Given the description of an element on the screen output the (x, y) to click on. 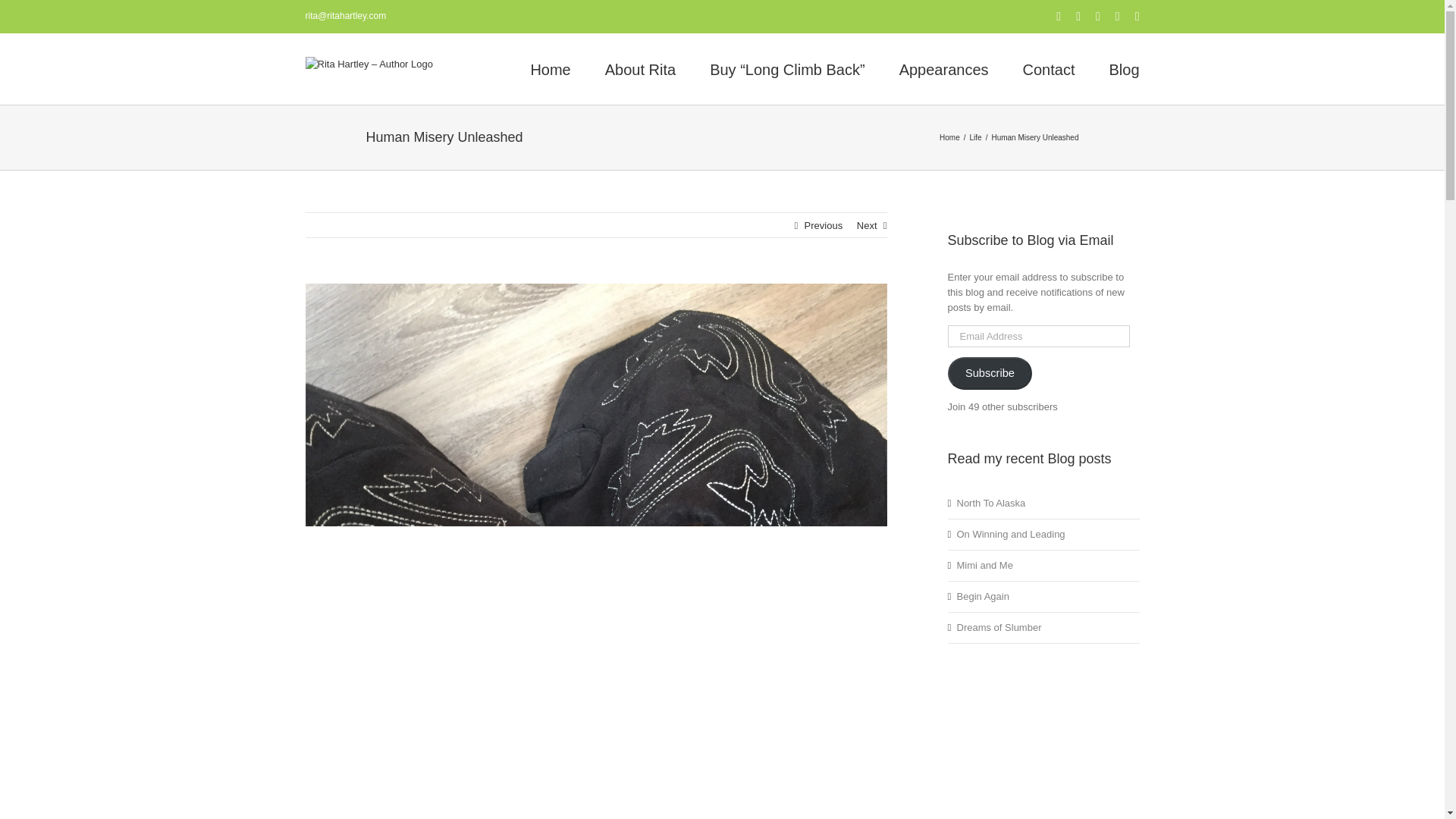
About Rita (640, 68)
Appearances (943, 68)
Home (949, 137)
Previous (824, 225)
Life (975, 137)
